Given the description of an element on the screen output the (x, y) to click on. 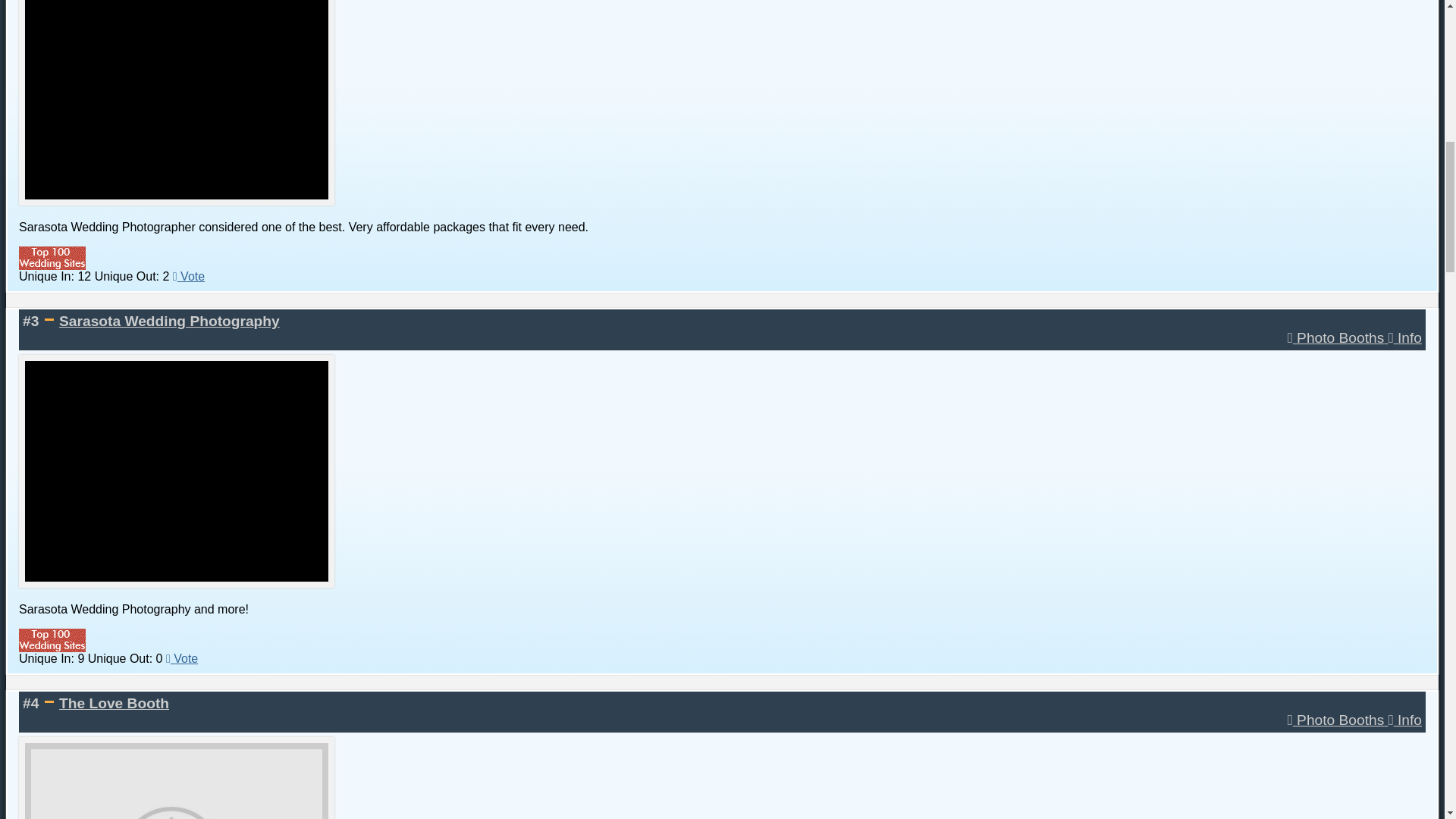
Info (1405, 337)
The Love Booth (113, 703)
Vote (189, 276)
Sarasota Wedding Photography (169, 320)
Sarasota Wedding Photography (169, 320)
Info (1405, 719)
Photo Booths (1338, 337)
The Love Booth (113, 703)
Photo Booths (1338, 719)
Vote (181, 658)
